Given the description of an element on the screen output the (x, y) to click on. 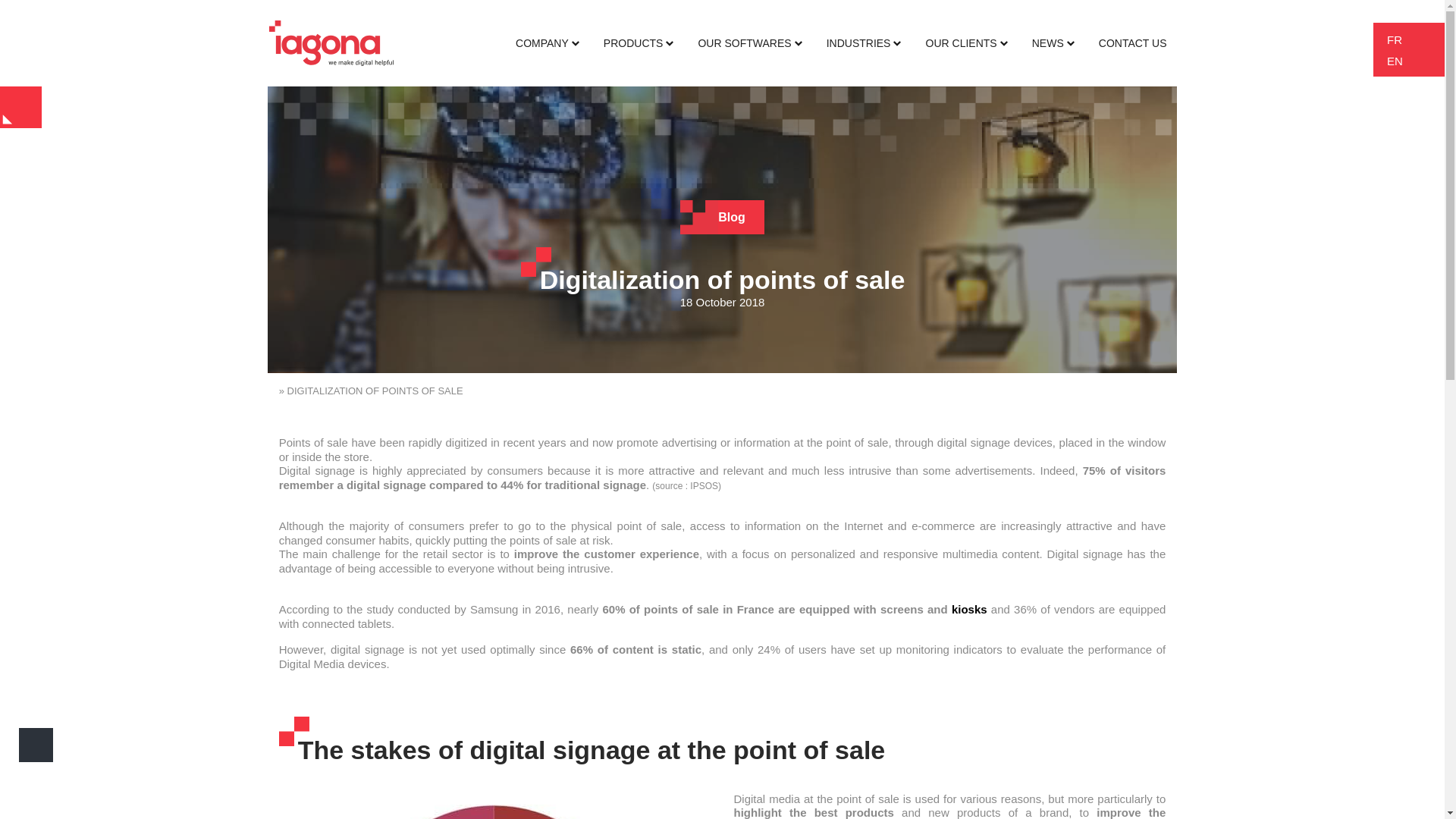
COMPANY (547, 43)
Iagona (330, 42)
PRODUCTS (638, 43)
